Given the description of an element on the screen output the (x, y) to click on. 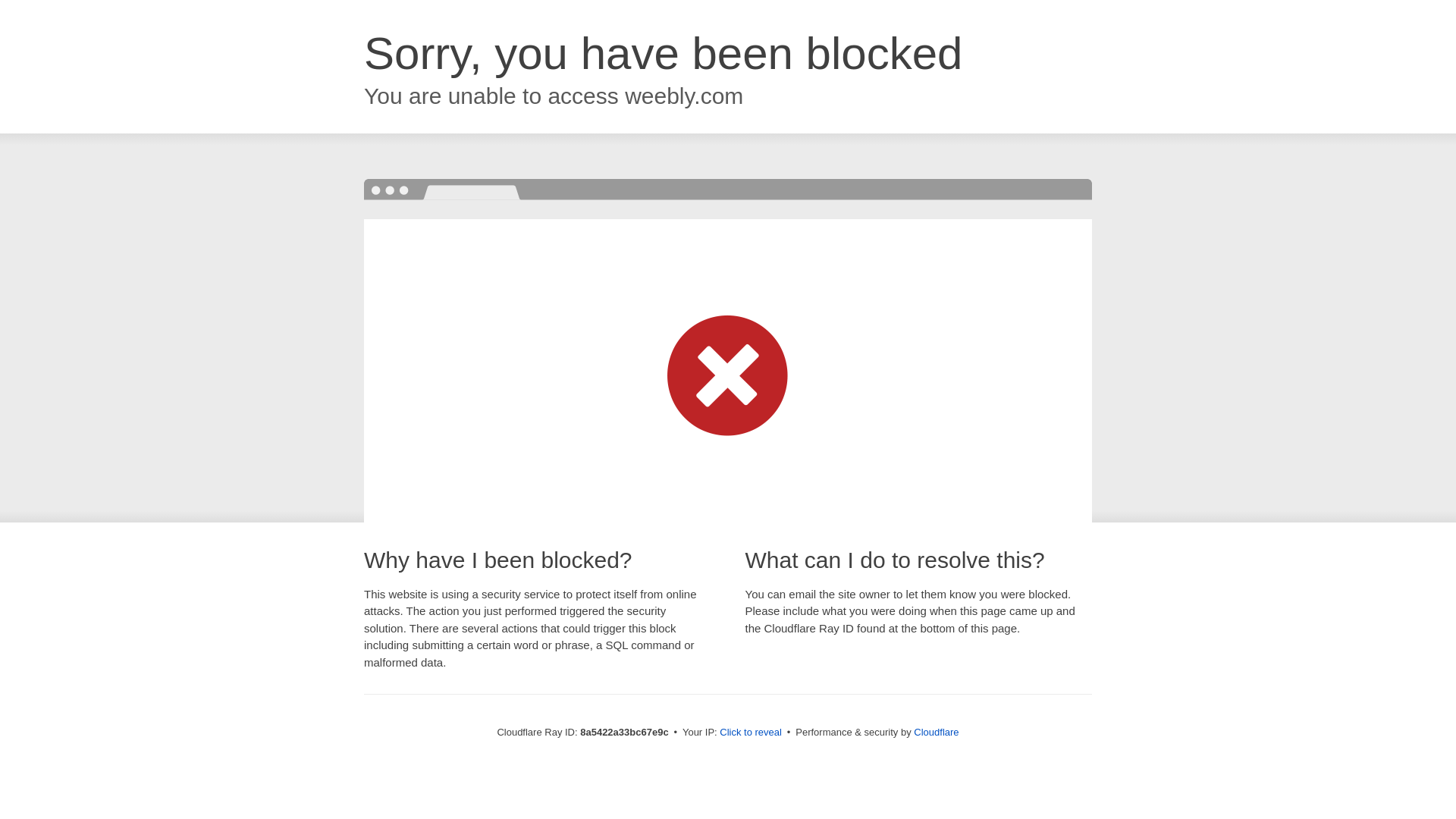
Click to reveal (750, 732)
Cloudflare (936, 731)
